Given the description of an element on the screen output the (x, y) to click on. 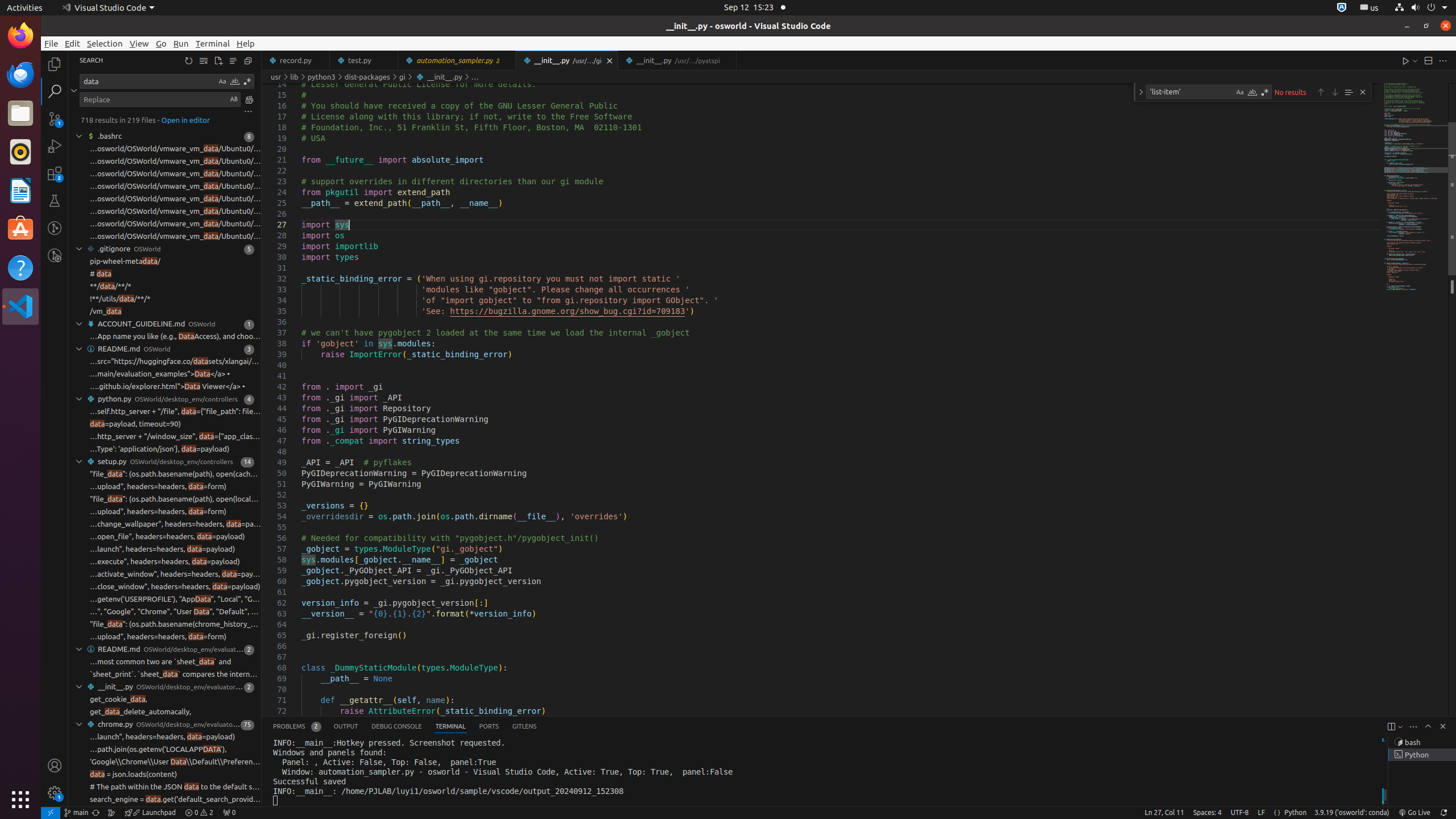
…Type': 'application/json'}, data=payload) Element type: link (159, 448)
get_cookie_data, Element type: link (118, 698)
UTF-8 Element type: push-button (1239, 812)
…main/evaluation_examples">Data</a> • Element type: link (159, 373)
Terminal 5 Python Element type: list-item (1422, 754)
